Given the description of an element on the screen output the (x, y) to click on. 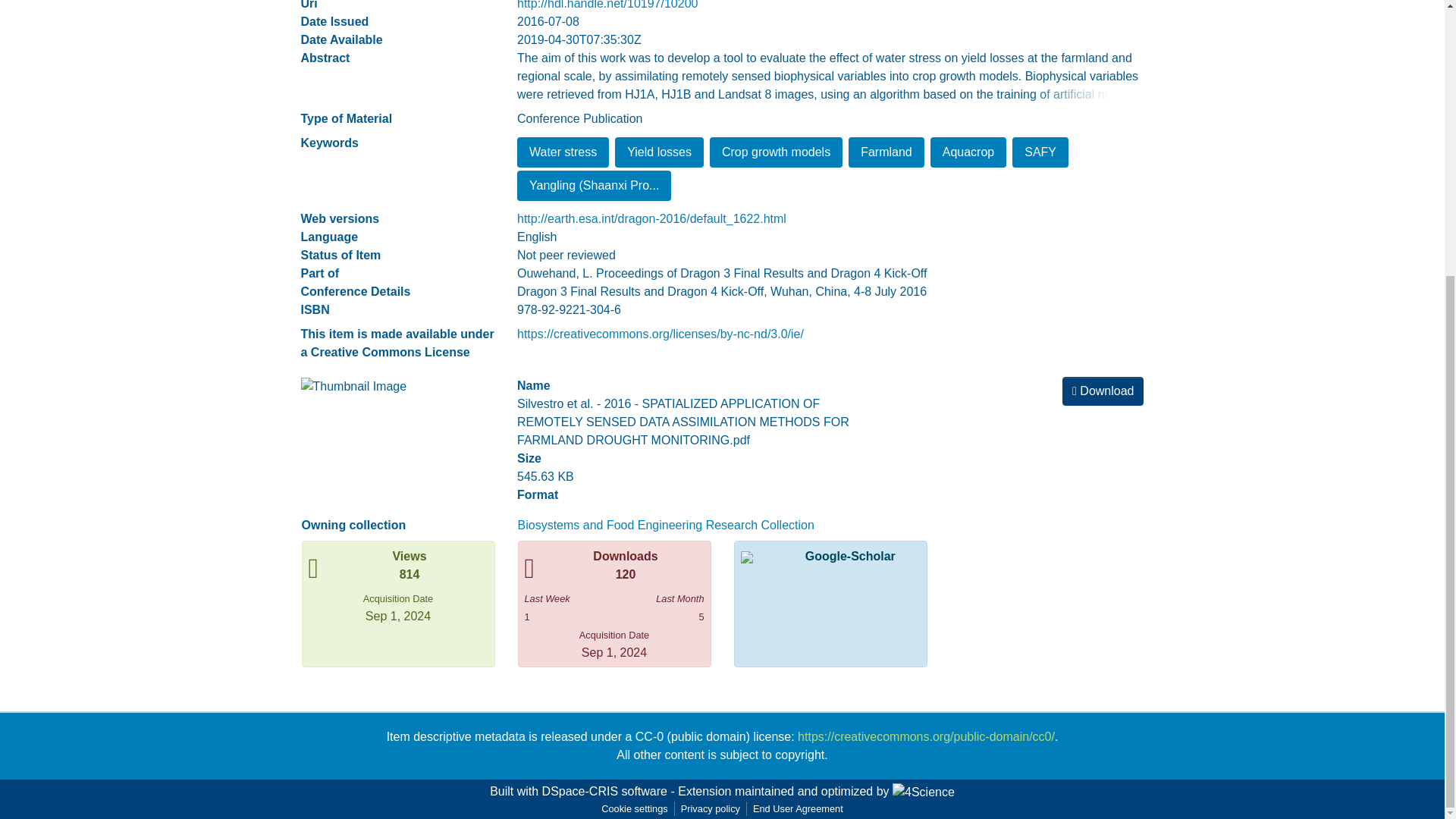
SAFY (1039, 152)
Aquacrop (968, 152)
Download (1102, 390)
Crop growth models (776, 152)
Yield losses (658, 152)
Water stress (562, 152)
Farmland (886, 152)
